Given the description of an element on the screen output the (x, y) to click on. 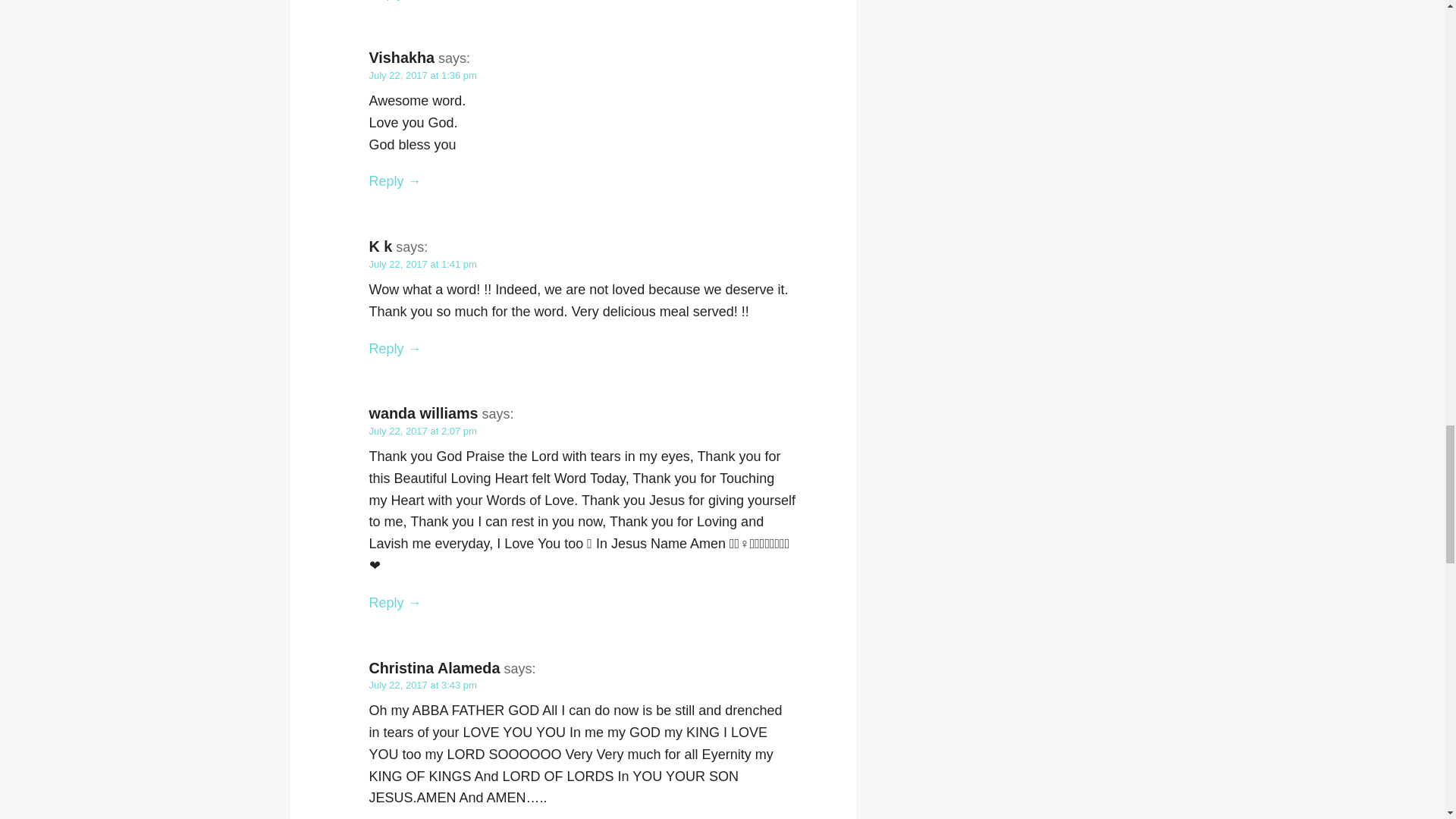
July 22, 2017 at 3:43 pm (422, 685)
July 22, 2017 at 1:41 pm (422, 264)
Reply (394, 348)
July 22, 2017 at 1:36 pm (422, 75)
Reply (394, 181)
July 22, 2017 at 2:07 pm (422, 430)
Reply (394, 0)
Reply (394, 602)
